Given the description of an element on the screen output the (x, y) to click on. 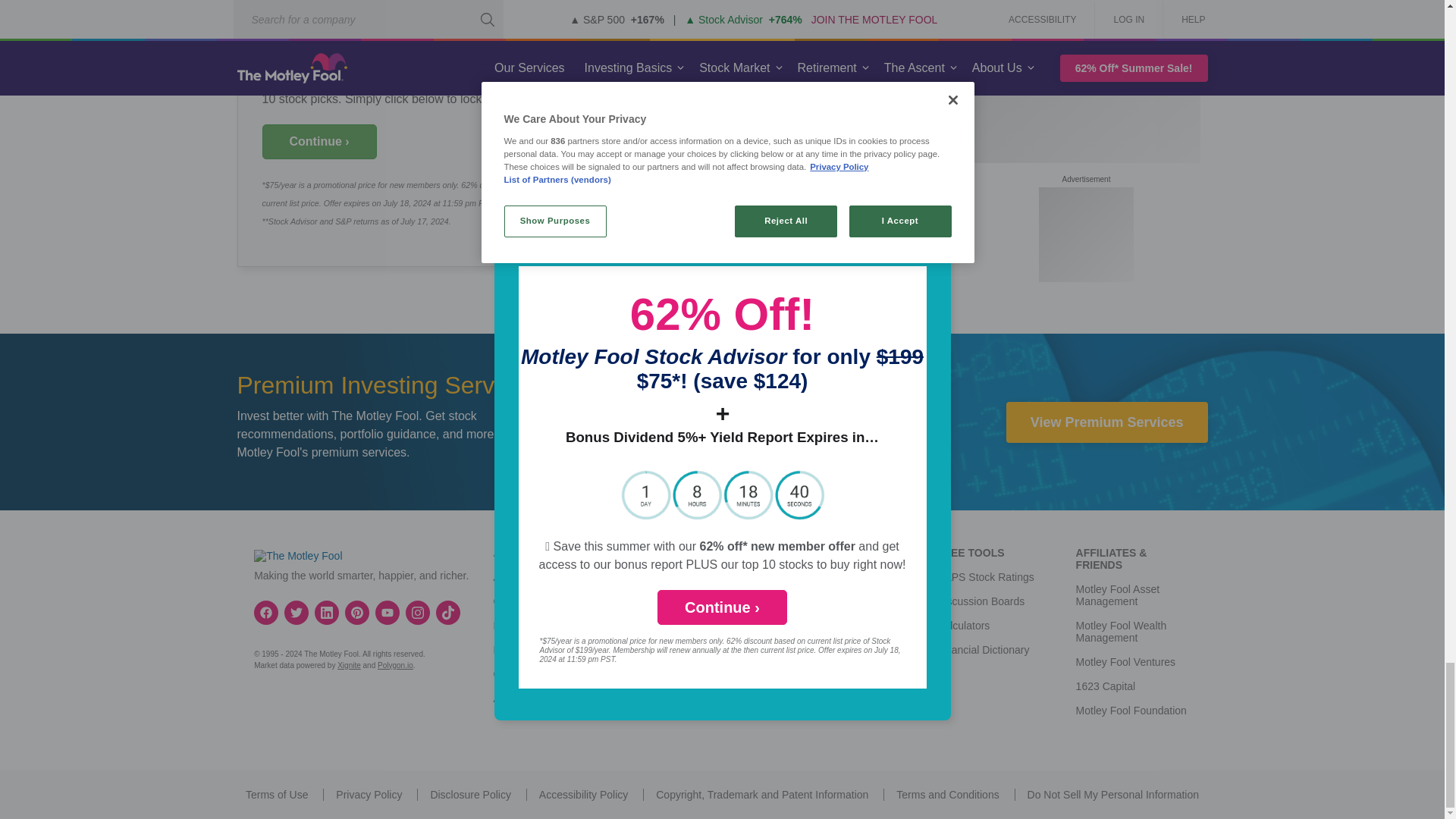
Do Not Sell My Personal Information. (1112, 794)
Disclosure Policy (470, 794)
Terms and Conditions (947, 794)
Accessibility Policy (582, 794)
Privacy Policy (368, 794)
Terms of Use (276, 794)
Copyright, Trademark and Patent Information (761, 794)
